Given the description of an element on the screen output the (x, y) to click on. 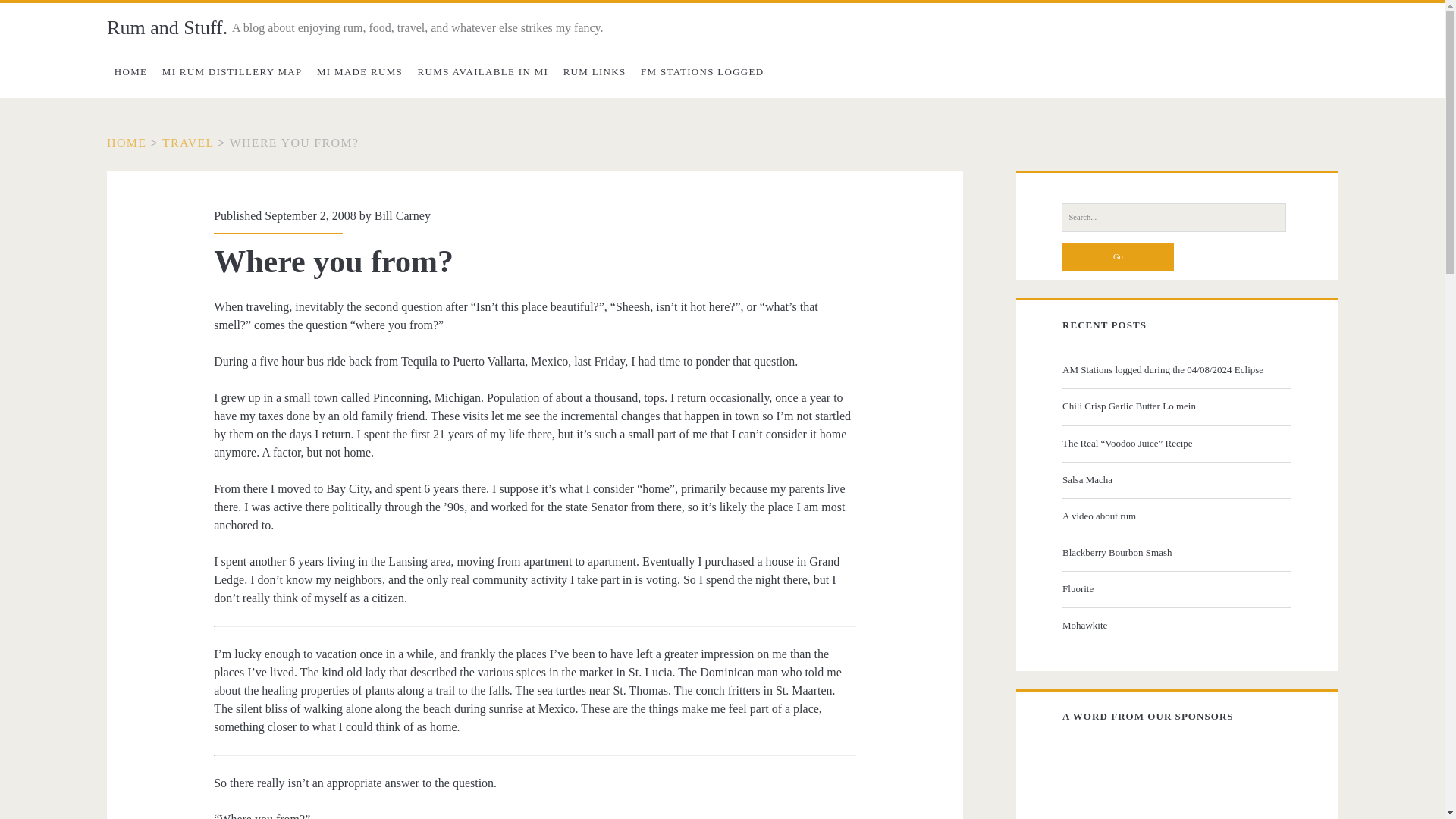
RUM LINKS (594, 71)
Go (1117, 257)
Go (1117, 257)
MI RUM DISTILLERY MAP (231, 71)
HOME (126, 142)
TRAVEL (187, 142)
RUMS AVAILABLE IN MI (483, 71)
Where you from? (294, 142)
Chili Crisp Garlic Butter Lo mein (1174, 406)
Go (1117, 257)
